Given the description of an element on the screen output the (x, y) to click on. 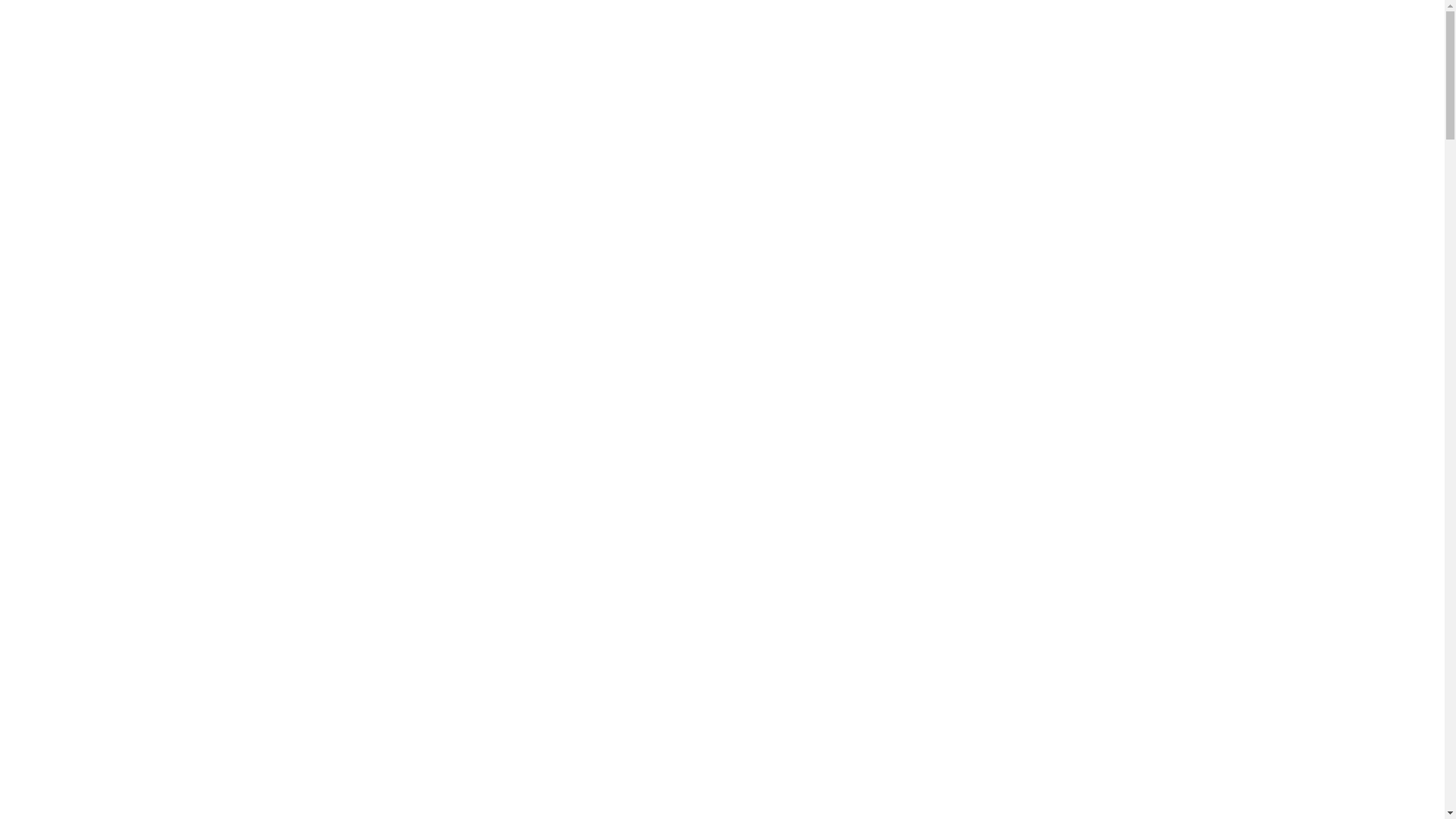
capital grille garden city closing Element type: text (969, 183)
Home Element type: text (675, 26)
did yeoman support slavery Element type: text (959, 496)
codependency group therapy ideas Element type: text (980, 645)
Over ons Element type: text (749, 26)
Voor bedrijven Element type: text (846, 26)
Contact Element type: text (1048, 26)
kevin o'connor actor death Element type: text (376, 93)
dr mark steinberg yelp Element type: text (945, 611)
bjj tournaments ohio 2021 Element type: text (955, 628)
maryland state police hql phone number Element type: text (993, 661)
holster for ruger super blackhawk 44 mag with scope Element type: text (697, 93)
Voor resellers Element type: text (956, 26)
mufaro's beautiful daughters rising action Element type: text (995, 381)
